Given the description of an element on the screen output the (x, y) to click on. 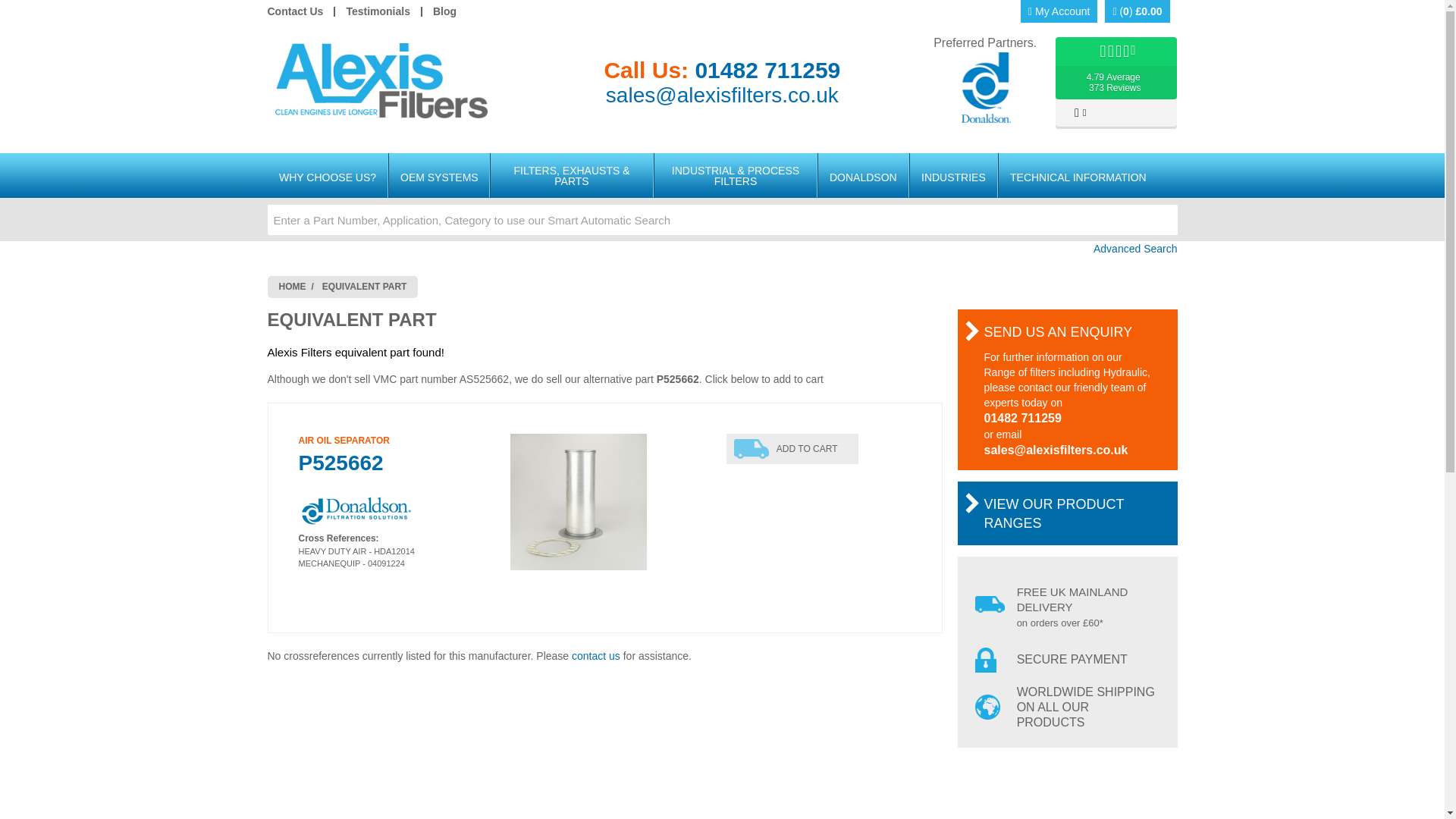
DONALDSON (863, 176)
Advanced Search (721, 248)
Reviews Badge Widget (1115, 83)
Blog (444, 10)
WHY CHOOSE US? (326, 176)
Go to Home Page (292, 287)
01482 711259 (767, 69)
TECHNICAL INFORMATION (1077, 176)
OEM SYSTEMS (438, 176)
HOME (292, 287)
Testimonials (392, 456)
Contact Us (377, 10)
INDUSTRIES (299, 10)
My Account (953, 176)
